Given the description of an element on the screen output the (x, y) to click on. 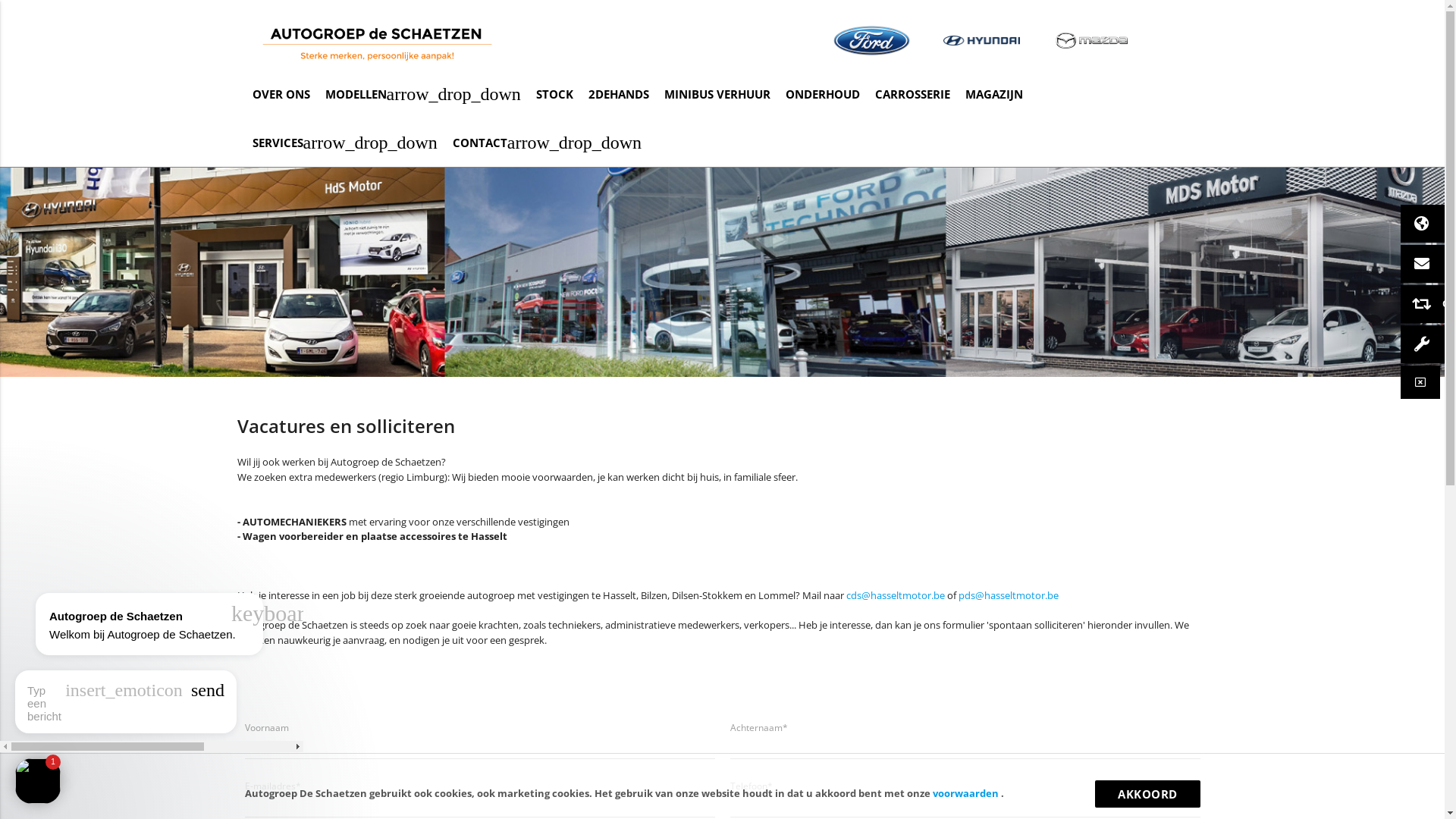
trengo-widget-greeter Element type: hover (151, 625)
trengo-widget-badge Element type: hover (52, 761)
OVER ONS Element type: text (280, 93)
STOCK Element type: text (554, 93)
AKKOORD Element type: text (1147, 793)
ONDERHOUD Element type: text (822, 93)
CONTACT
arrow_drop_down Element type: text (546, 142)
pds@hasseltmotor.be Element type: text (1008, 595)
cds@hasseltmotor.be Element type: text (895, 595)
MINIBUS VERHUUR Element type: text (717, 93)
CARROSSERIE Element type: text (912, 93)
SERVICES
arrow_drop_down Element type: text (343, 142)
2DEHANDS Element type: text (618, 93)
MODELLEN
arrow_drop_down Element type: text (422, 93)
trengo-widget-launcher Element type: hover (37, 780)
voorwaarden Element type: text (966, 793)
MAGAZIJN Element type: text (993, 93)
